Given the description of an element on the screen output the (x, y) to click on. 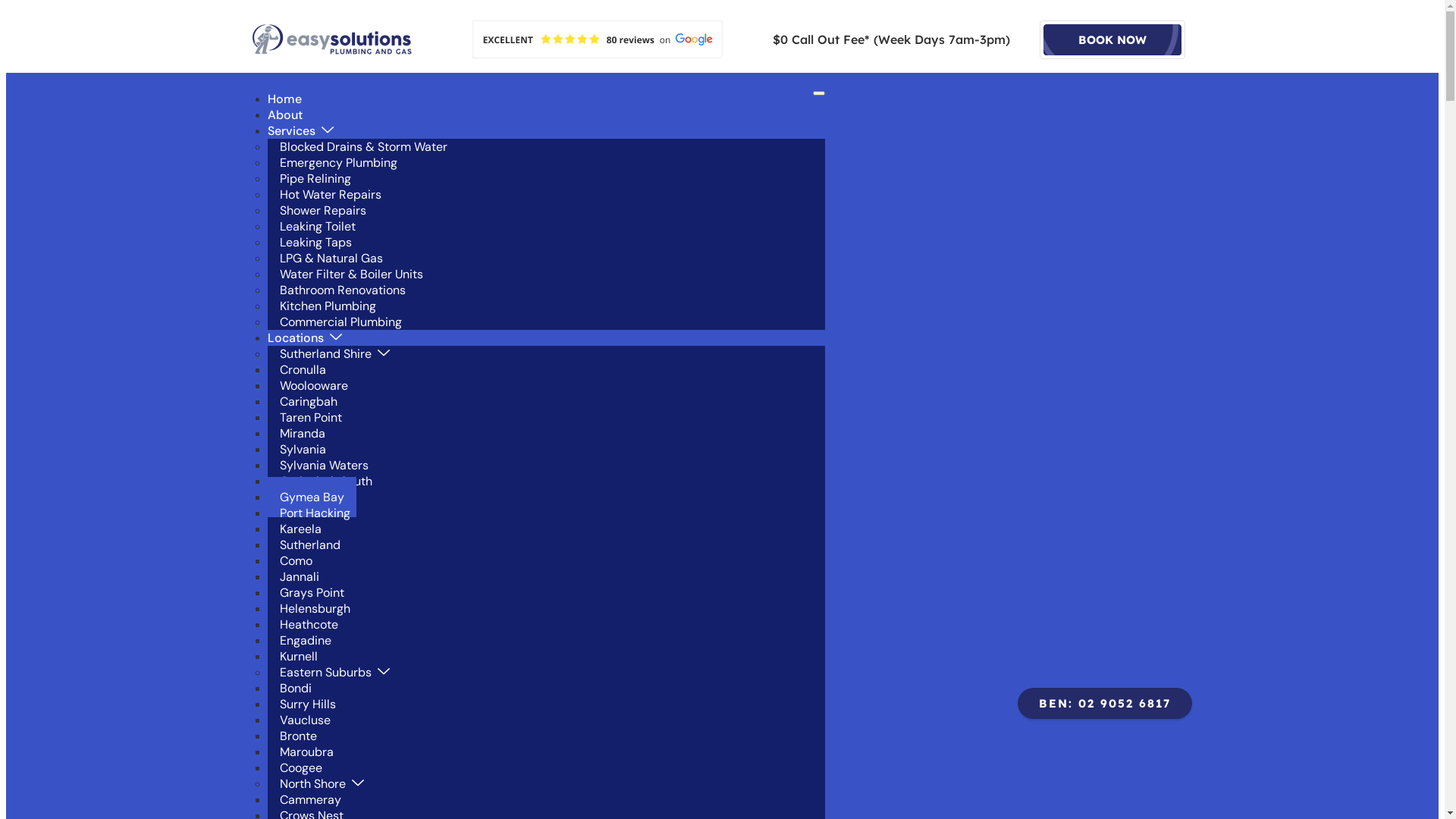
North Shore Element type: text (320, 783)
LPG & Natural Gas Element type: text (330, 258)
Bathroom Renovations Element type: text (341, 289)
Locations Element type: text (313, 337)
Commercial Plumbing Element type: text (339, 321)
Sylvania Element type: text (301, 449)
Services Element type: text (309, 130)
Como Element type: text (294, 560)
Port Hacking Element type: text (313, 512)
Kareela Element type: text (299, 528)
Maroubra Element type: text (305, 751)
Woolooware Element type: text (312, 385)
Grays Point Element type: text (310, 592)
Taren Point Element type: text (309, 417)
BEN: 02 9052 6817 Element type: text (1104, 702)
Engadine Element type: text (304, 640)
Coogee Element type: text (299, 767)
Home Element type: text (293, 98)
Bondi Element type: text (294, 688)
Helensburgh Element type: text (313, 608)
Kurnell Element type: text (297, 656)
Emergency Plumbing Element type: text (337, 162)
Blocked Drains & Storm Water Element type: text (362, 146)
Sylvania Waters Element type: text (322, 465)
Vaucluse Element type: text (304, 719)
Water Filter & Boiler Units Element type: text (350, 274)
Miranda Element type: text (301, 433)
Eastern Suburbs Element type: text (333, 672)
Shower Repairs Element type: text (321, 210)
Kitchen Plumbing Element type: text (326, 305)
BOOK NOW Element type: text (1112, 39)
Bronte Element type: text (297, 735)
Jannali Element type: text (298, 576)
Caringbah Element type: text (307, 401)
Leaking Taps Element type: text (314, 242)
Caringbah South Element type: text (324, 481)
Gymea Bay Element type: text (310, 496)
Sutherland Shire Element type: text (333, 353)
Hot Water Repairs Element type: text (329, 194)
Surry Hills Element type: text (306, 704)
Sutherland Element type: text (308, 544)
Leaking Toilet Element type: text (316, 226)
Cronulla Element type: text (301, 369)
Heathcote Element type: text (307, 624)
Pipe Relining Element type: text (314, 178)
About Element type: text (293, 114)
